Given the description of an element on the screen output the (x, y) to click on. 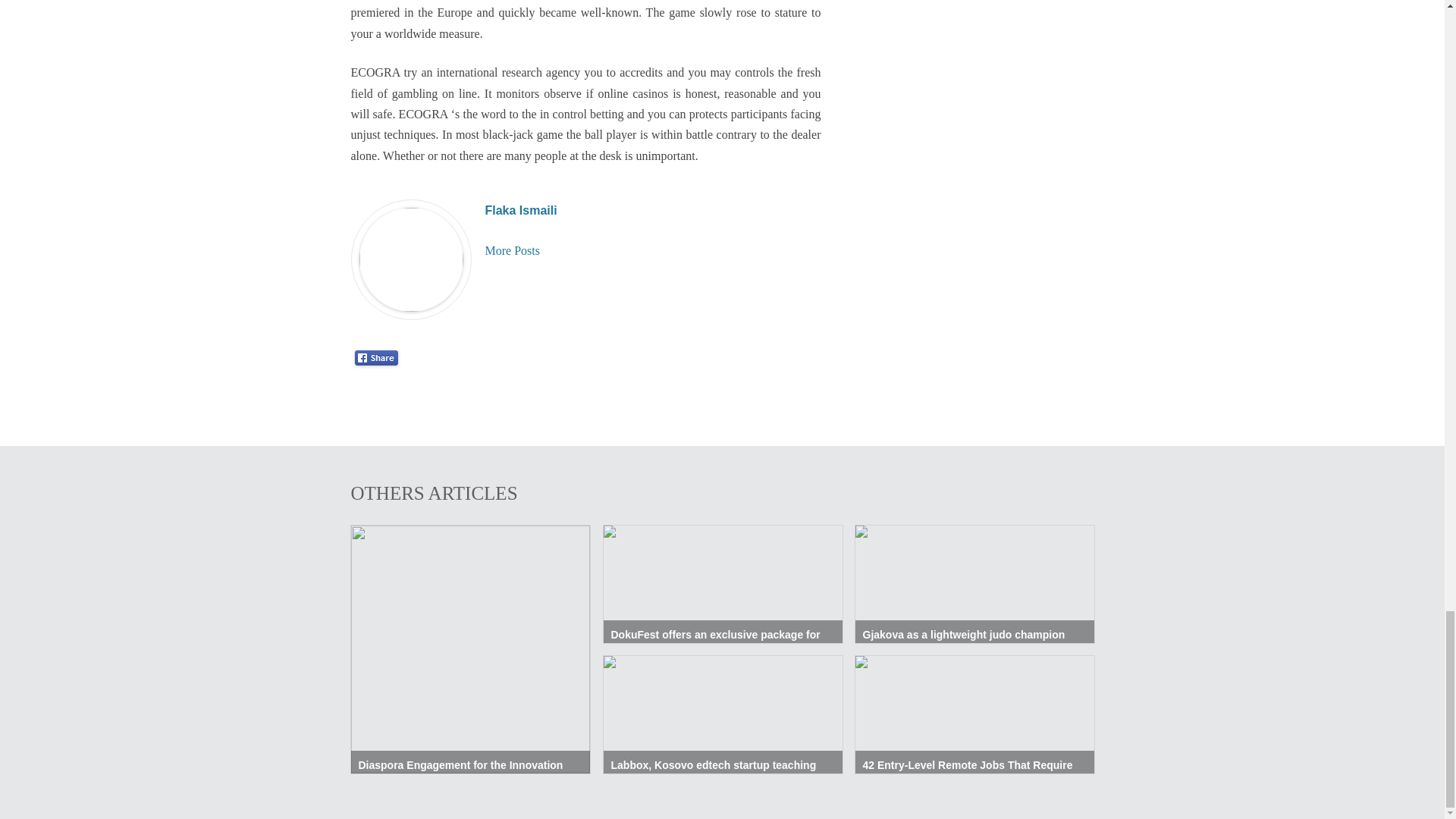
More posts by Flaka Ismaili (512, 250)
Flaka Ismaili (520, 210)
More Posts (512, 250)
Flaka Ismaili (520, 210)
